Given the description of an element on the screen output the (x, y) to click on. 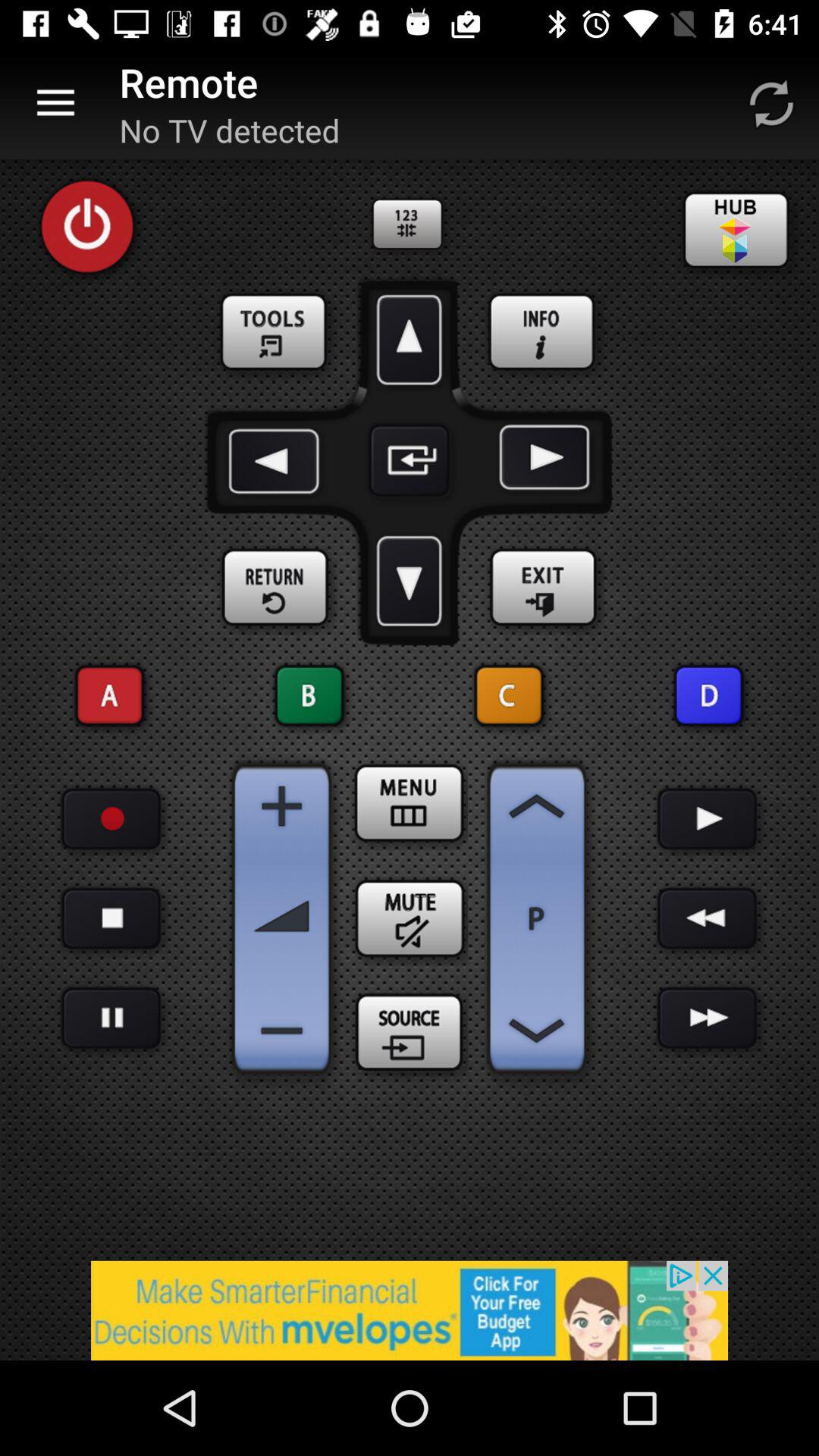
go to baga topatan (707, 918)
